Given the description of an element on the screen output the (x, y) to click on. 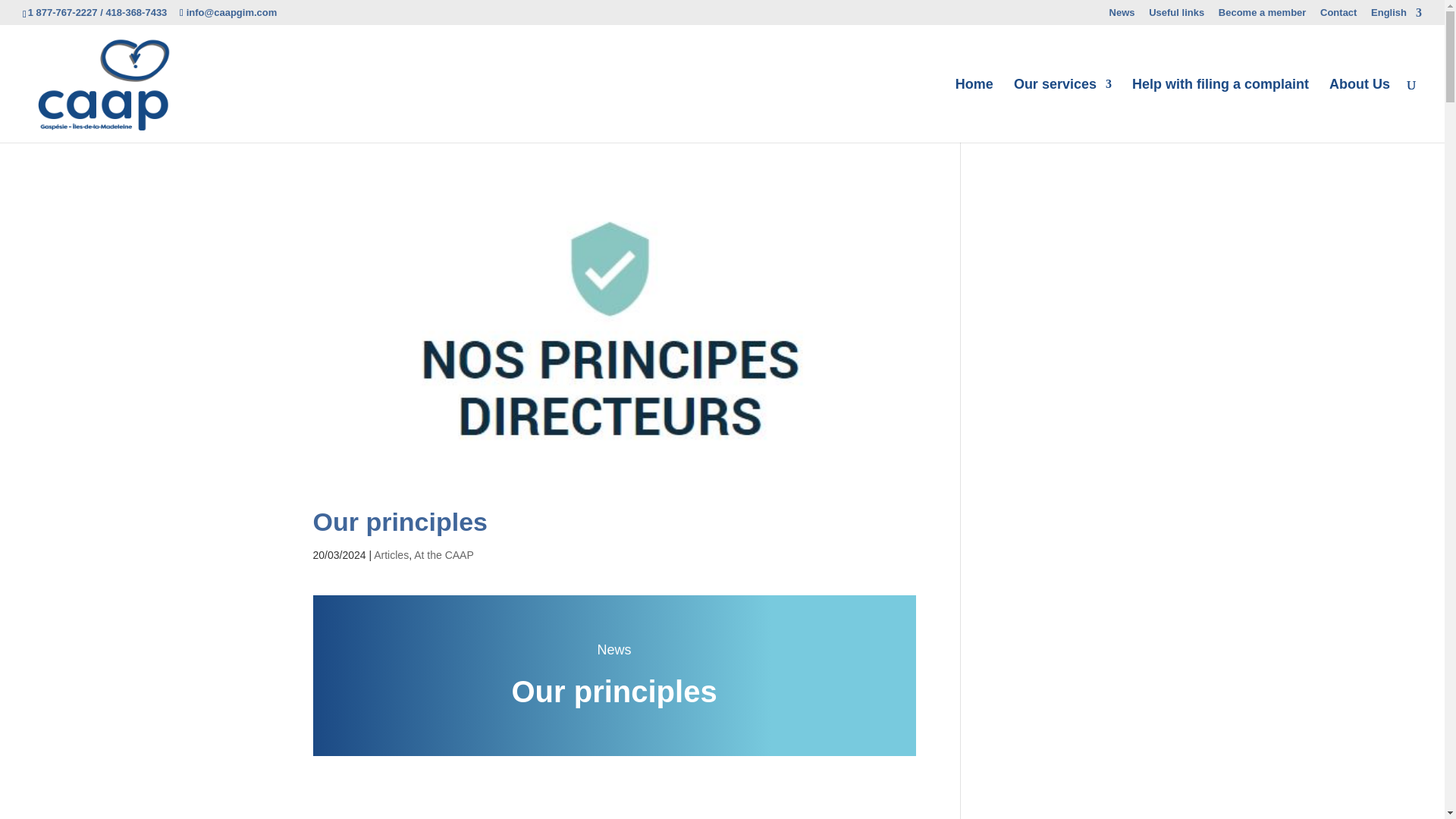
Become a member (1262, 16)
Articles (391, 554)
At the CAAP (443, 554)
About Us (1359, 110)
News (1122, 16)
Useful links (1176, 16)
Contact (1338, 16)
Our services (1062, 110)
English (1396, 16)
English (1396, 16)
